Given the description of an element on the screen output the (x, y) to click on. 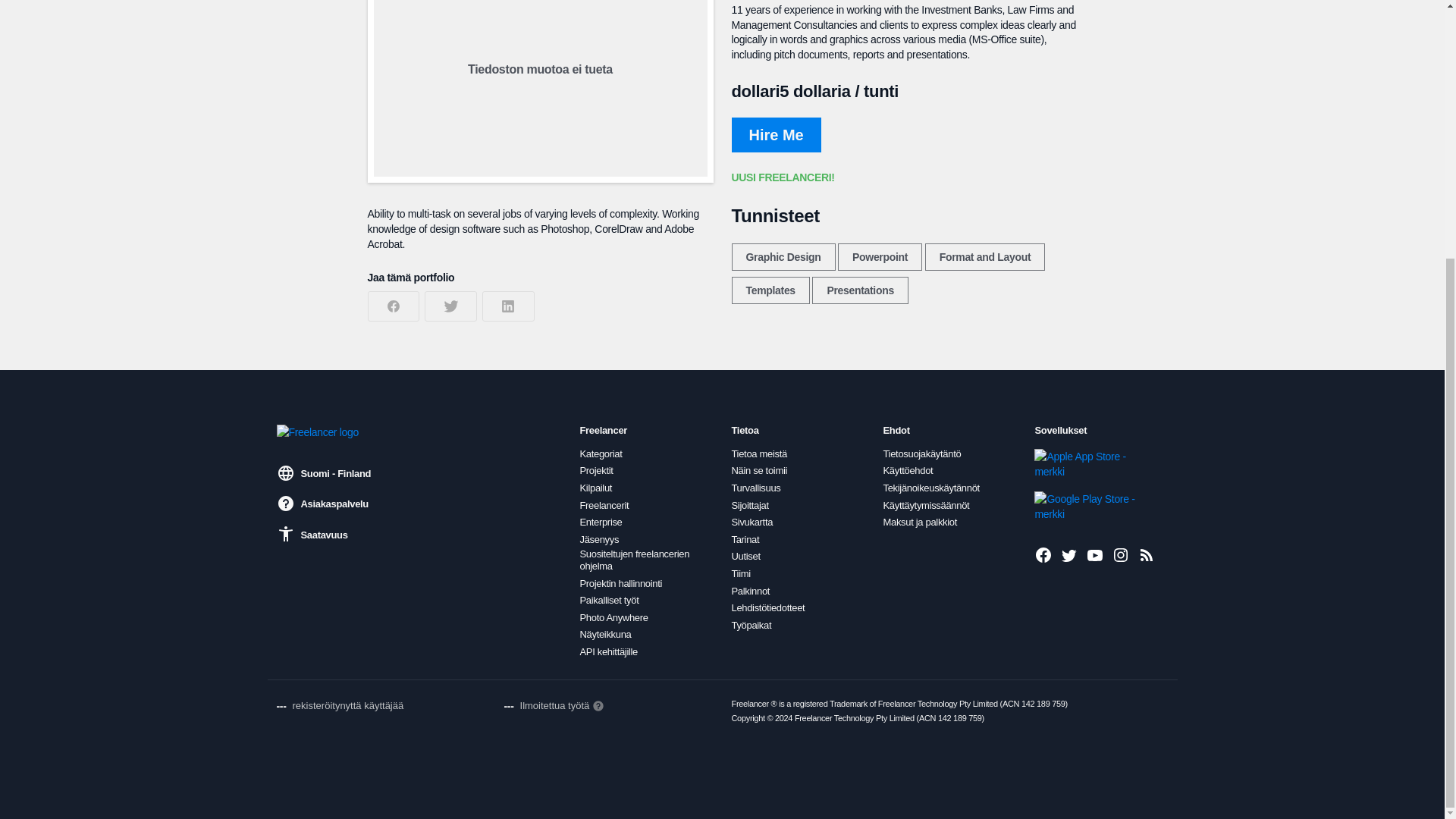
Projektin hallinnointi (620, 583)
Freelancer Instagramissa (1120, 555)
Freelancer Youtubessa (1094, 555)
Uusimmat projektit (1146, 555)
Powerpoint (879, 257)
Asiakaspalvelu (322, 503)
Turvallisuus (755, 488)
Freelancer Facebookissa (1042, 555)
Hanki Google Playsta (1085, 506)
Hire Me (775, 134)
